Given the description of an element on the screen output the (x, y) to click on. 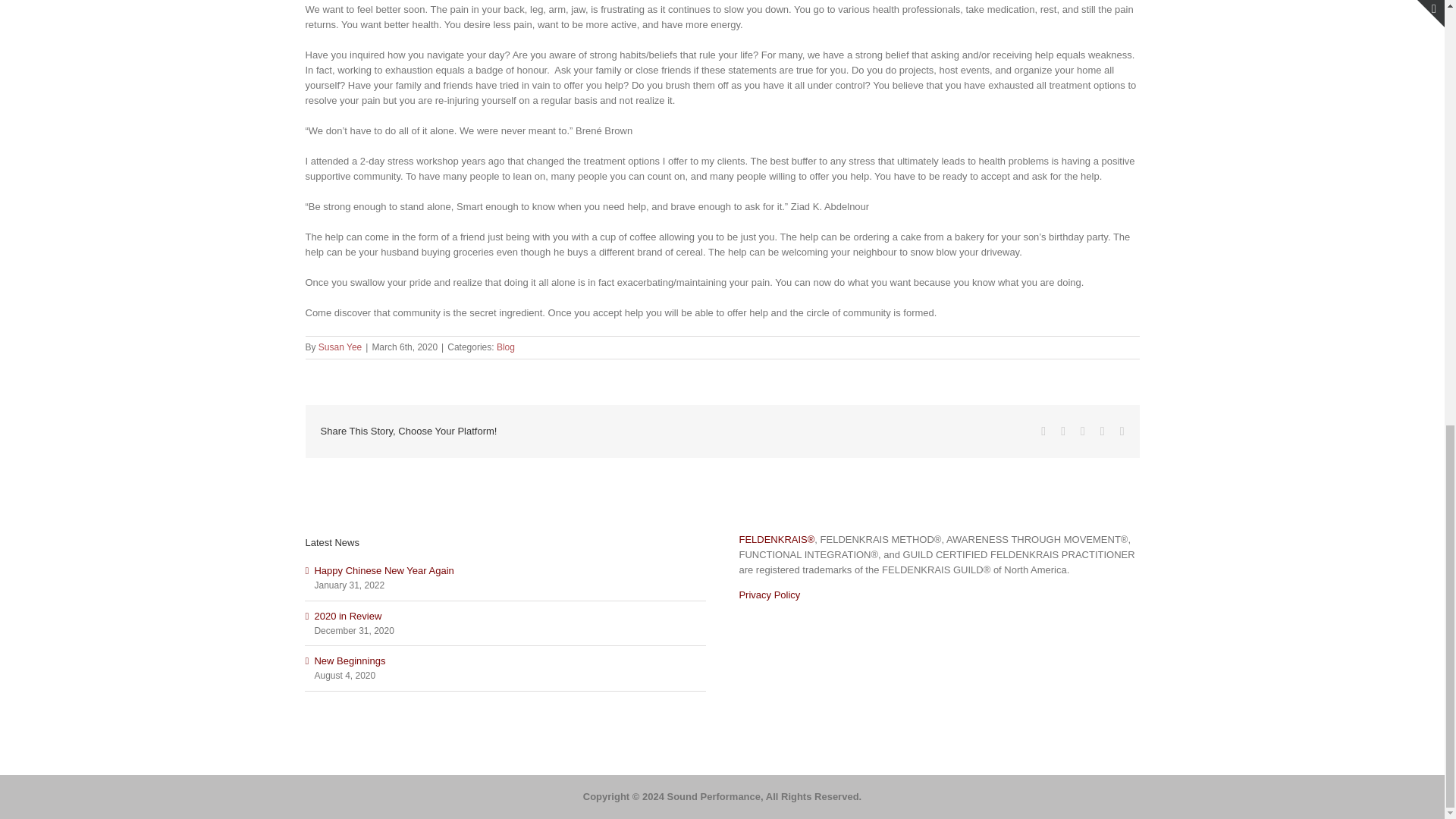
Privacy Policy (768, 594)
Posts by Susan Yee (339, 347)
Happy Chinese New Year Again (383, 570)
2020 in Review (347, 615)
Susan Yee (339, 347)
Privacy Policy (768, 594)
New Beginnings (349, 660)
Blog (505, 347)
